Given the description of an element on the screen output the (x, y) to click on. 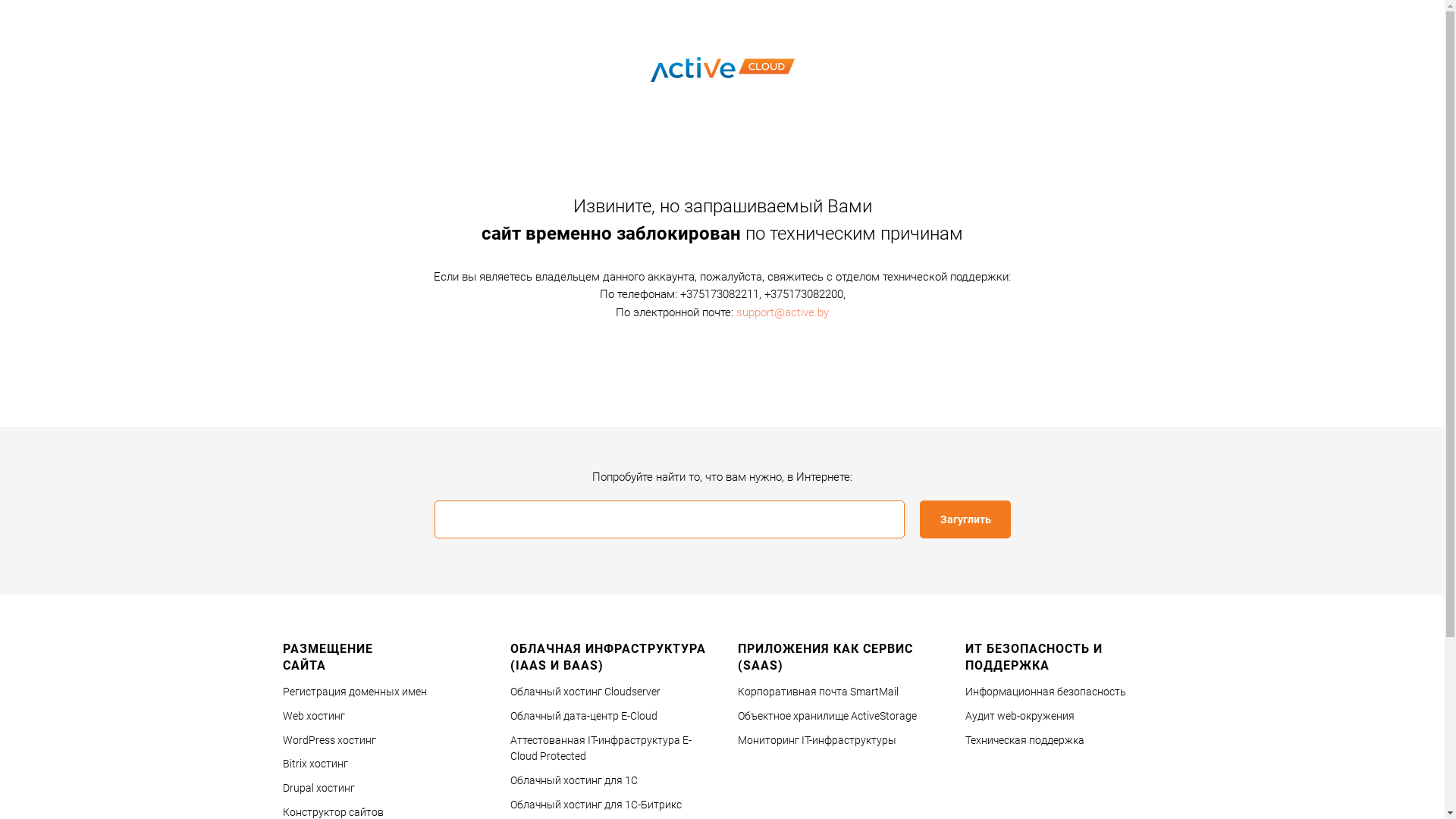
+375173082211 Element type: text (718, 294)
+375173082200 Element type: text (803, 294)
support@active.by Element type: text (782, 311)
